Given the description of an element on the screen output the (x, y) to click on. 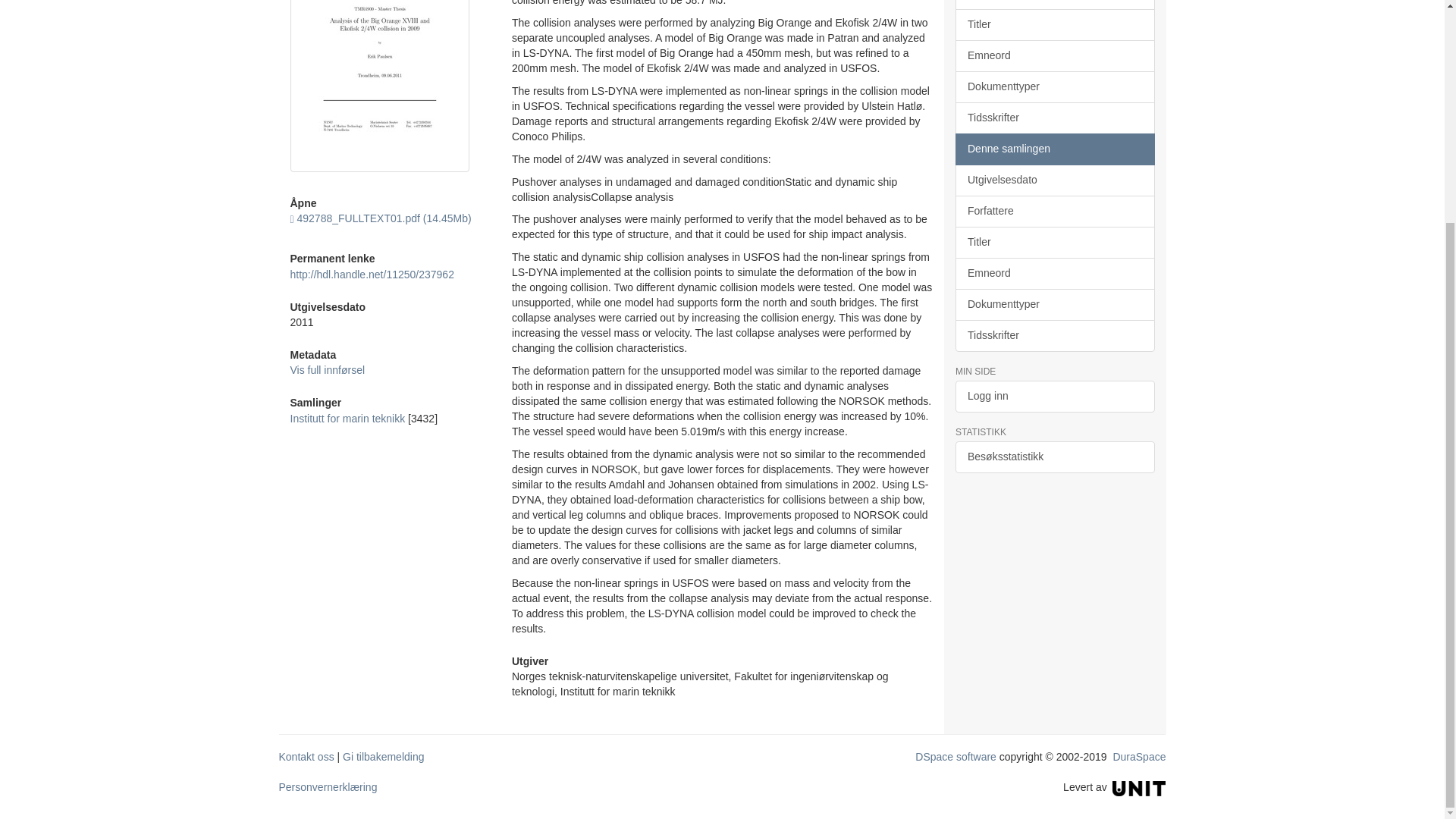
Institutt for marin teknikk (346, 418)
Unit (1139, 787)
Forfattere (1054, 4)
Dokumenttyper (1054, 87)
Tidsskrifter (1054, 118)
Titler (1054, 24)
Emneord (1054, 56)
